Given the description of an element on the screen output the (x, y) to click on. 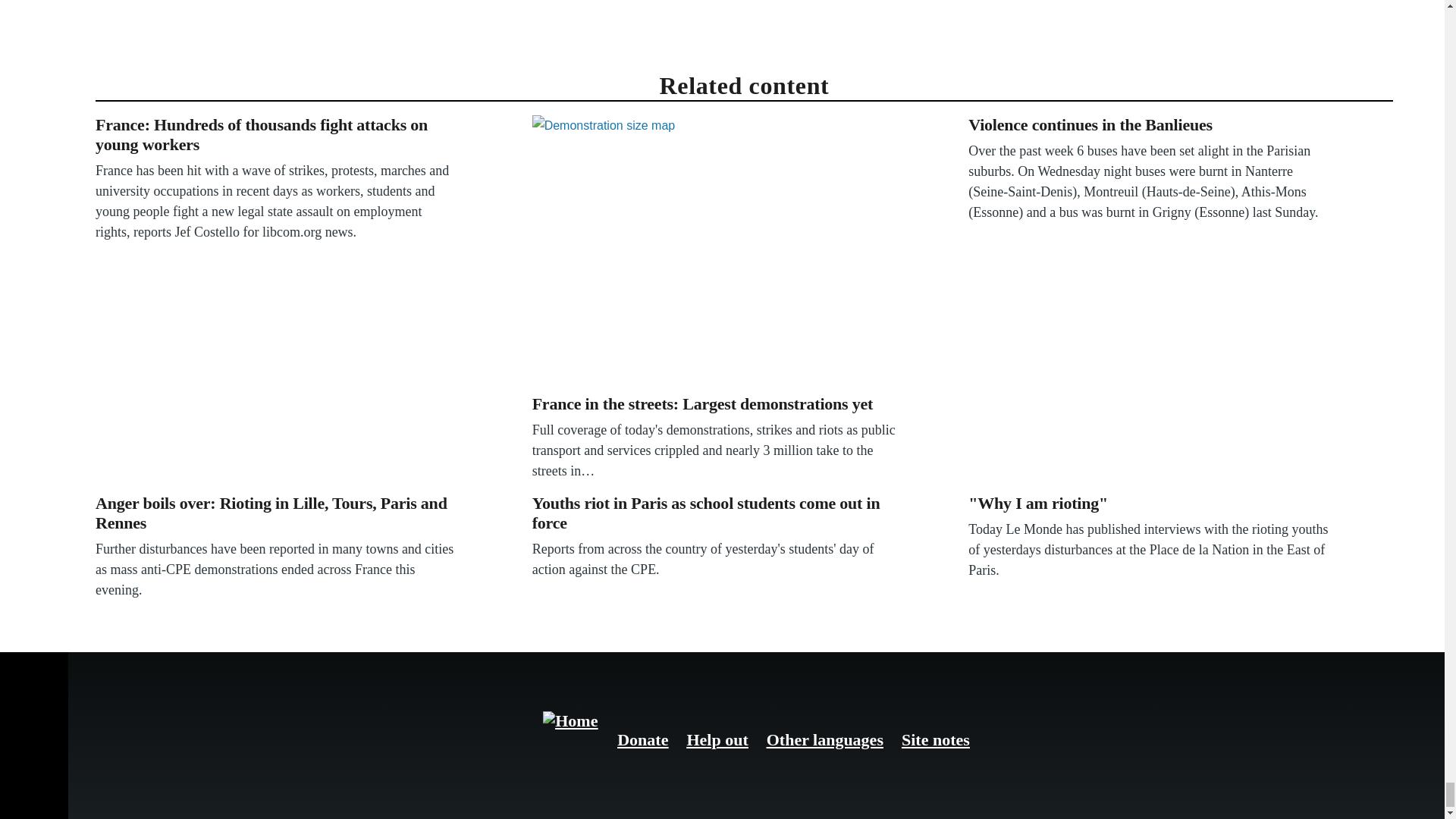
Other languages (825, 739)
Donate (642, 739)
Site notes (935, 739)
Demonstration size map (714, 251)
Help out (716, 739)
libcom content in languages other than English (825, 739)
